Given the description of an element on the screen output the (x, y) to click on. 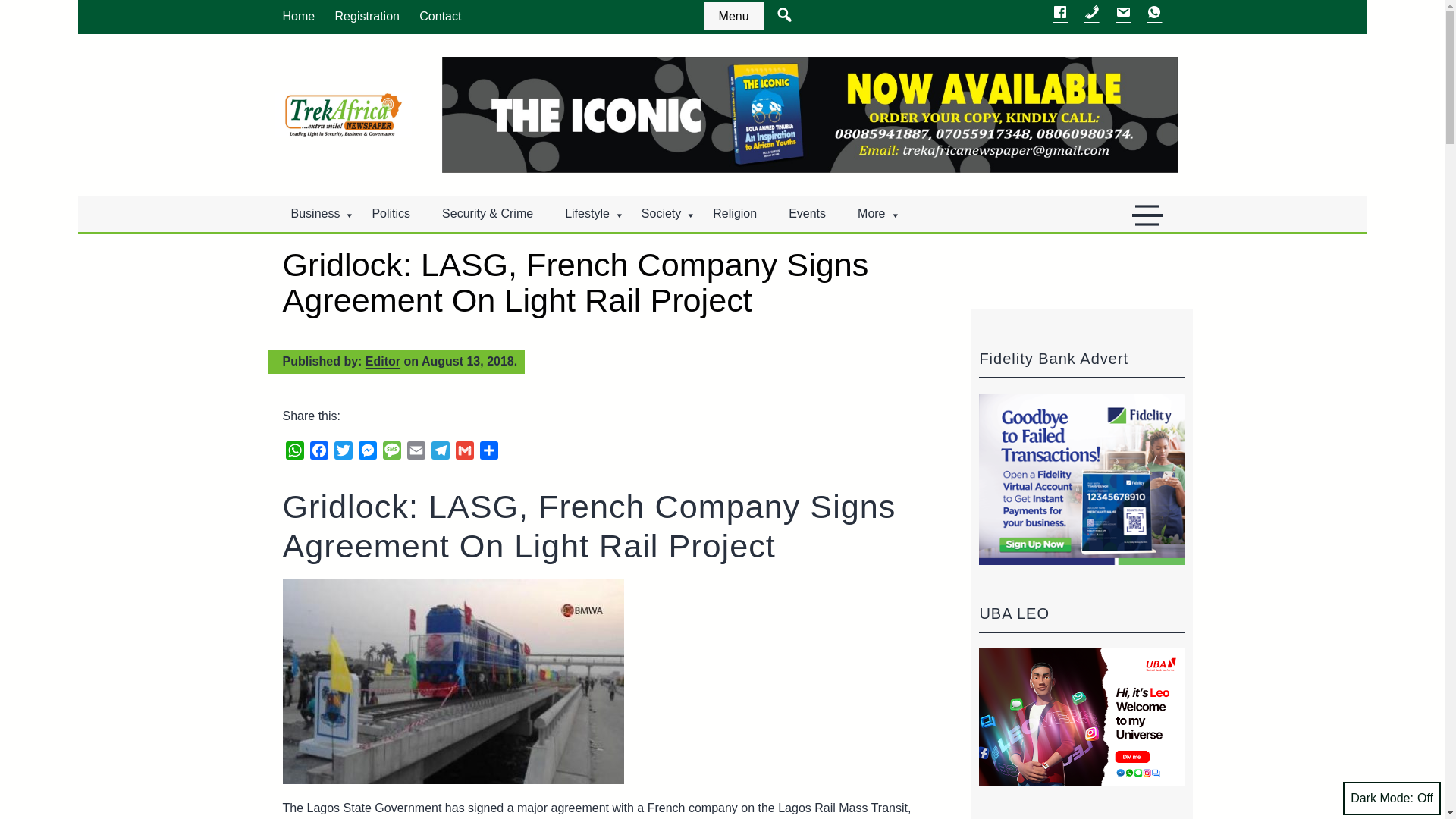
WhatsApp (293, 453)
Call Trek Africa (1091, 15)
Facebook (317, 453)
Posts by Editor (382, 360)
Email (415, 453)
Contact (440, 17)
Twitter (342, 453)
Messenger (366, 453)
Find it (823, 82)
Trek Africa on Facebook (1059, 15)
Send a mail to Trek Africa (1123, 15)
Home (298, 17)
Business (315, 213)
See more (733, 16)
Message (390, 453)
